Given the description of an element on the screen output the (x, y) to click on. 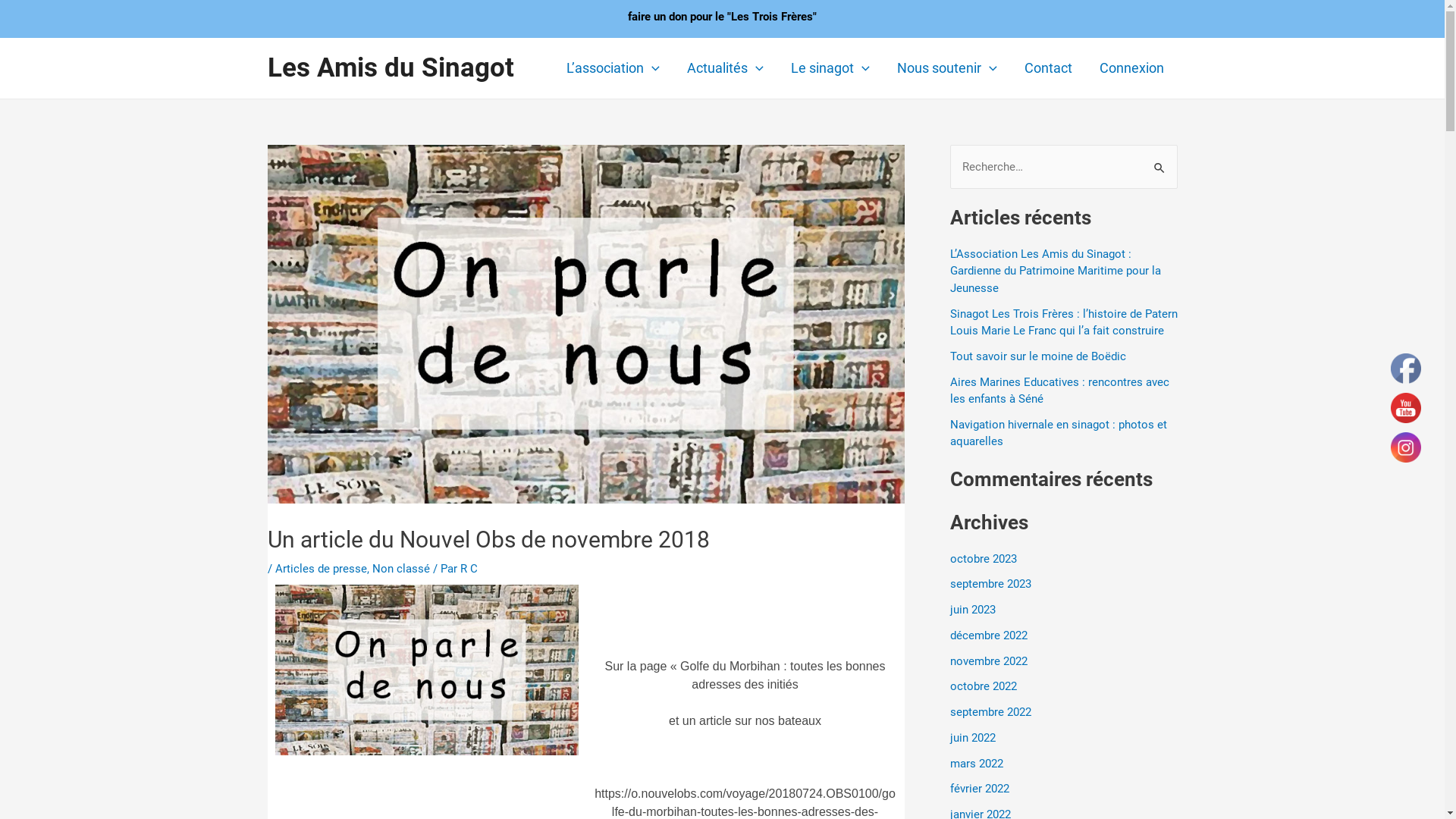
Facebook Element type: hover (1405, 368)
Nous soutenir Element type: text (946, 67)
septembre 2023 Element type: text (989, 583)
Connexion Element type: text (1131, 67)
Le sinagot Element type: text (830, 67)
juin 2022 Element type: text (971, 737)
Navigation hivernale en sinagot : photos et aquarelles Element type: text (1057, 432)
Rechercher Element type: text (1160, 159)
Les Amis du Sinagot Element type: text (389, 67)
R C Element type: text (467, 567)
septembre 2022 Element type: text (989, 711)
Instagram Element type: hover (1405, 447)
mars 2022 Element type: text (975, 763)
Articles de presse Element type: text (320, 567)
octobre 2023 Element type: text (982, 558)
novembre 2022 Element type: text (987, 661)
juin 2023 Element type: text (971, 609)
YouTube Element type: hover (1405, 407)
octobre 2022 Element type: text (982, 686)
Contact Element type: text (1047, 67)
